Given the description of an element on the screen output the (x, y) to click on. 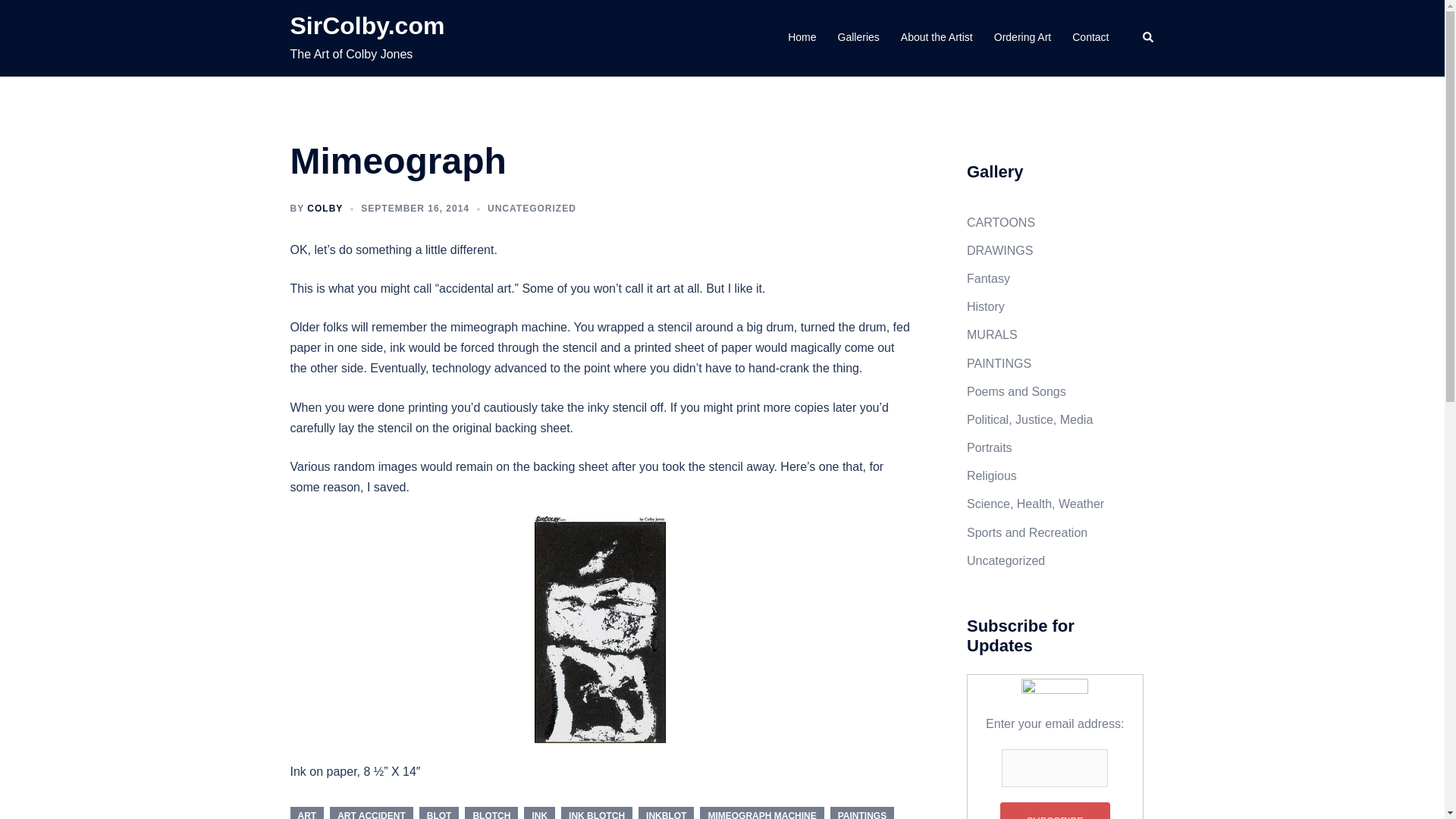
MIMEOGRAPH MACHINE (762, 812)
Subscribe (1054, 810)
ART ACCIDENT (371, 812)
SirColby.com (366, 25)
SEPTEMBER 16, 2014 (414, 208)
BLOT (439, 812)
UNCATEGORIZED (531, 208)
Galleries (858, 37)
About the Artist (936, 37)
Contact (1089, 37)
Search (1147, 37)
COLBY (324, 208)
PAINTINGS (861, 812)
BLOTCH (491, 812)
